Given the description of an element on the screen output the (x, y) to click on. 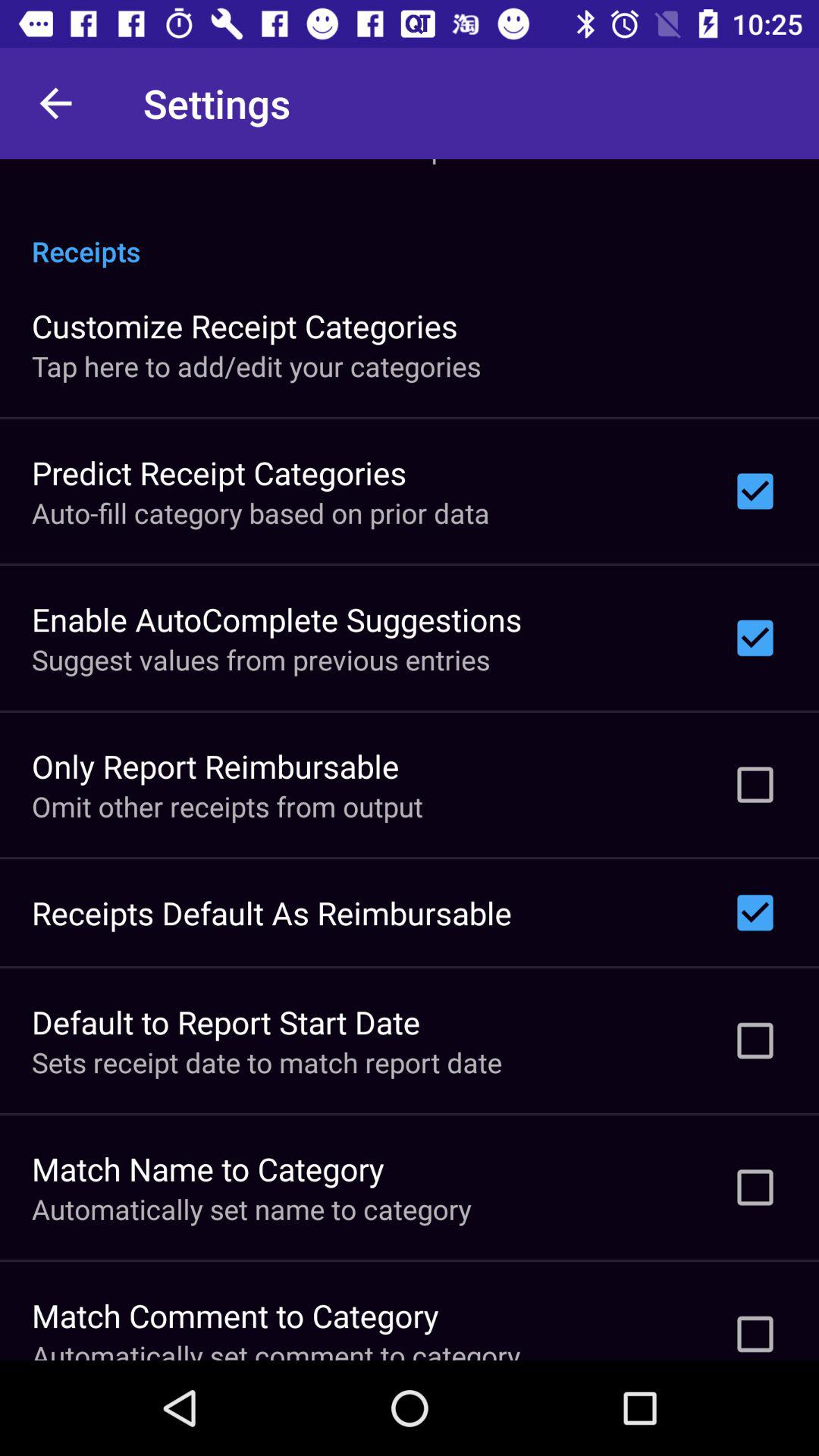
tap sets receipt date icon (266, 1062)
